Given the description of an element on the screen output the (x, y) to click on. 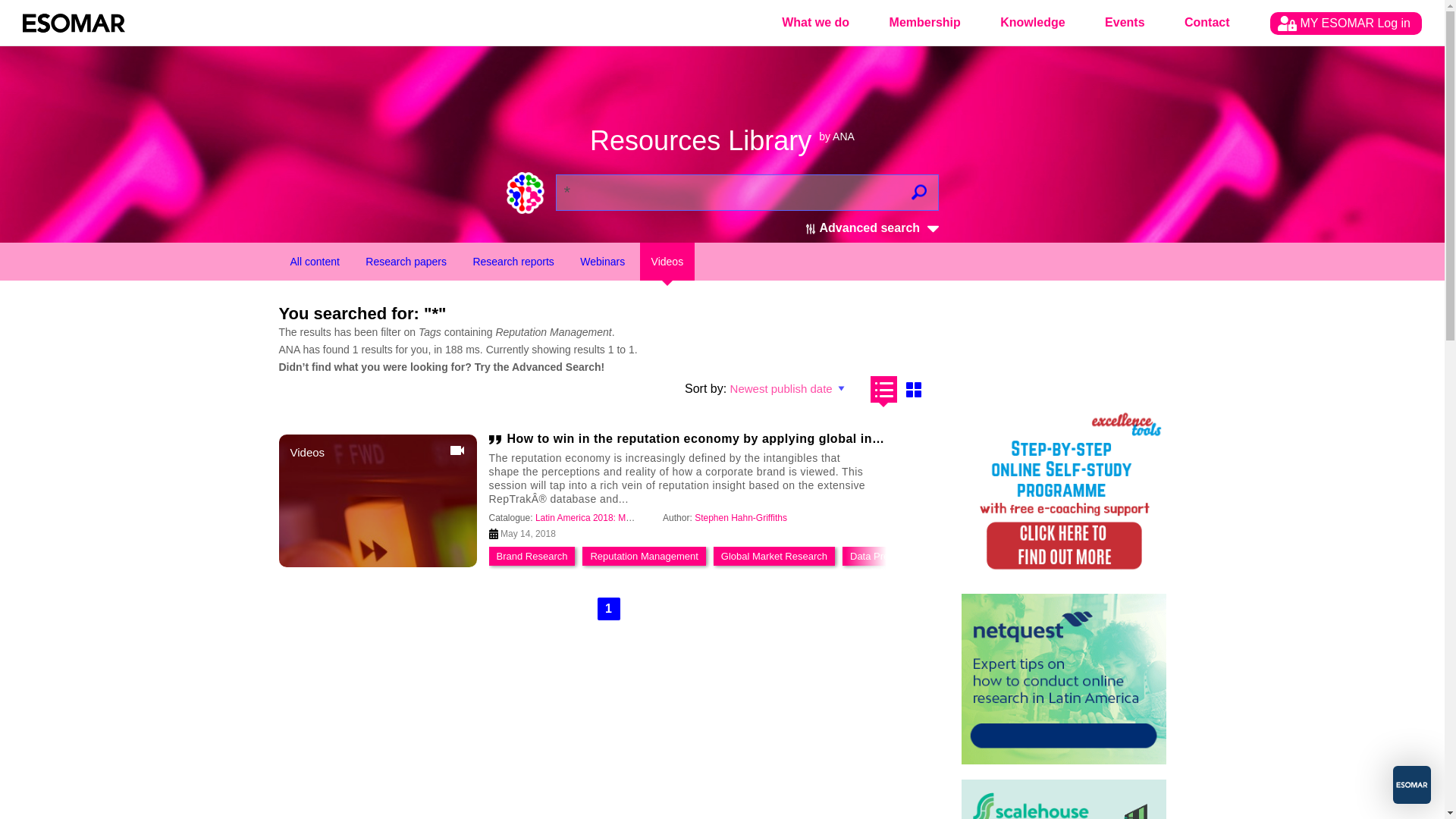
DVL SMITH (1063, 492)
Knowledge (1032, 22)
LUCK COLL (1063, 799)
Videos (667, 261)
What we do (814, 22)
Events (1123, 22)
Research reports (512, 261)
All content (314, 261)
